Given the description of an element on the screen output the (x, y) to click on. 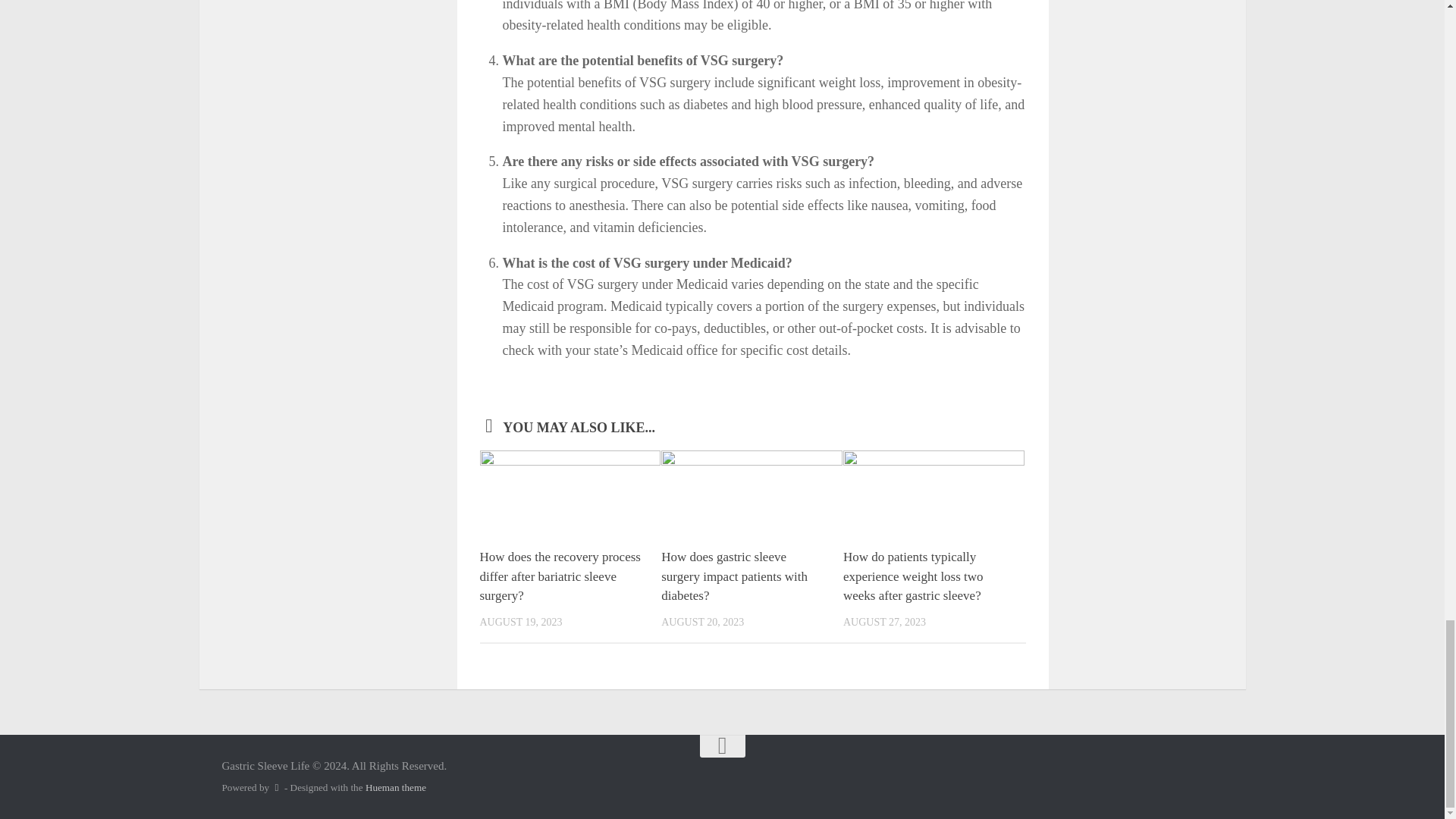
Powered by WordPress (275, 787)
Hueman theme (395, 787)
